Given the description of an element on the screen output the (x, y) to click on. 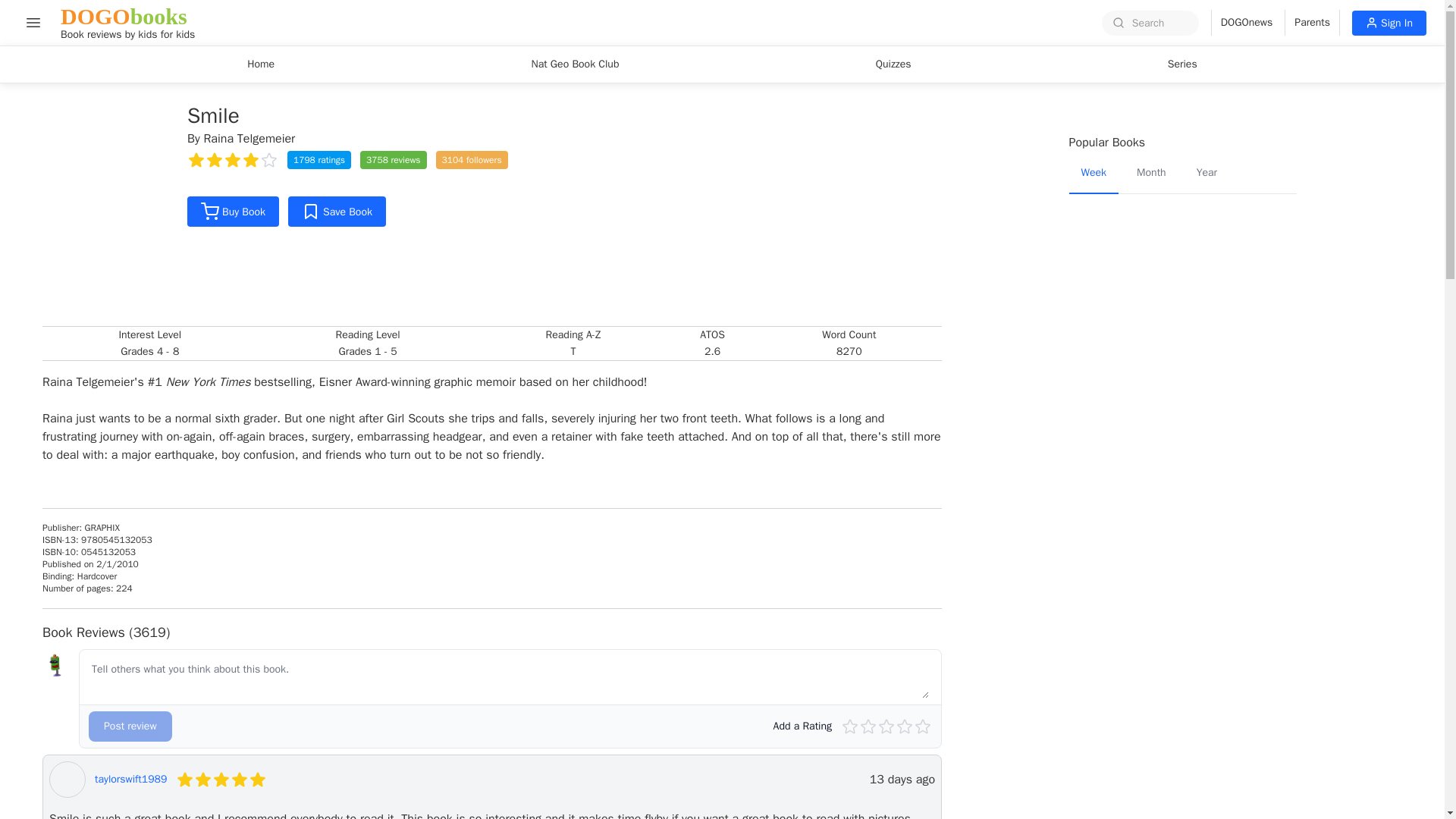
Parents (1311, 22)
Series (1182, 63)
Buy Book (233, 211)
Nat Geo Book Club (574, 63)
August 16, 2024 (901, 779)
taylorswift1989 (130, 779)
Quizzes (893, 63)
Save Book (336, 211)
Home (260, 63)
Open main menu (33, 22)
